Given the description of an element on the screen output the (x, y) to click on. 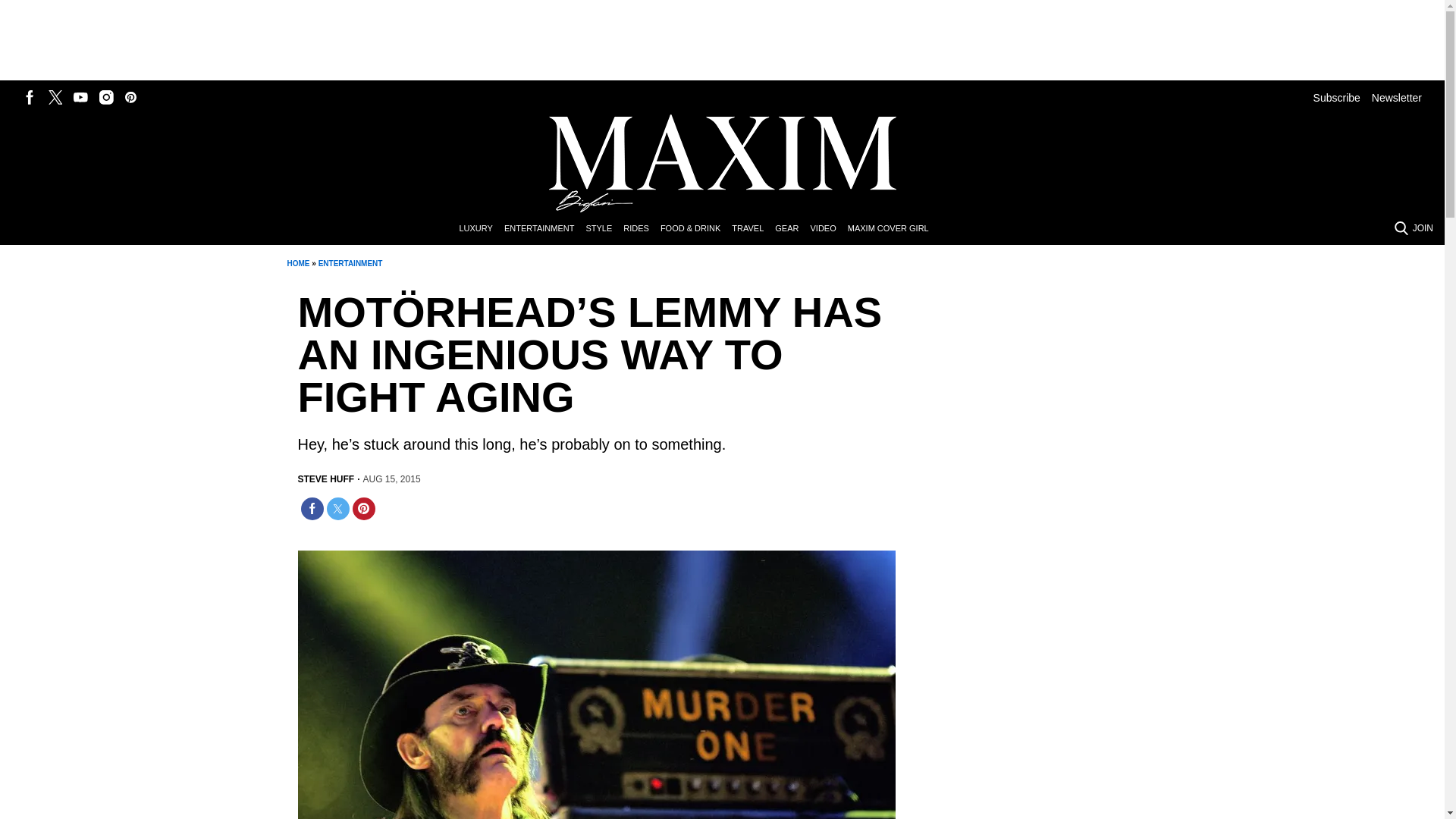
STYLE (604, 228)
Share on Twitter (337, 508)
MAXIM COVER GIRL (893, 228)
VIDEO (828, 228)
Subscribe (1336, 97)
Newsletter (1396, 97)
TRAVEL (753, 228)
Follow us on Twitter (55, 97)
HOME (297, 263)
STEVE HUFF (325, 479)
